Given the description of an element on the screen output the (x, y) to click on. 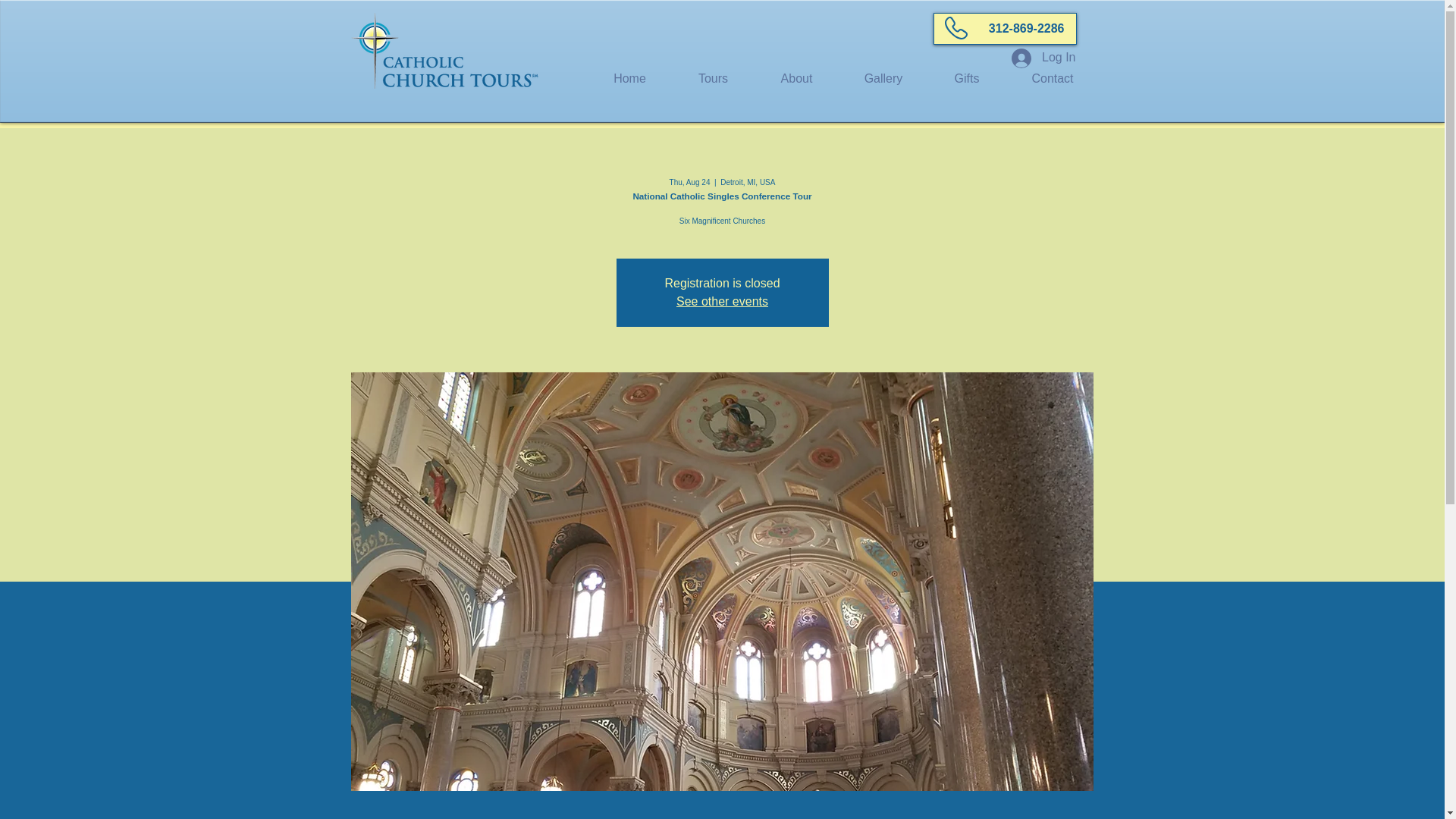
Tours (712, 78)
Log In (1043, 58)
Gallery (882, 78)
Gifts (967, 78)
See other events (722, 300)
About (796, 78)
Home (628, 78)
312-869-2286 (1004, 29)
Contact (1052, 78)
